Given the description of an element on the screen output the (x, y) to click on. 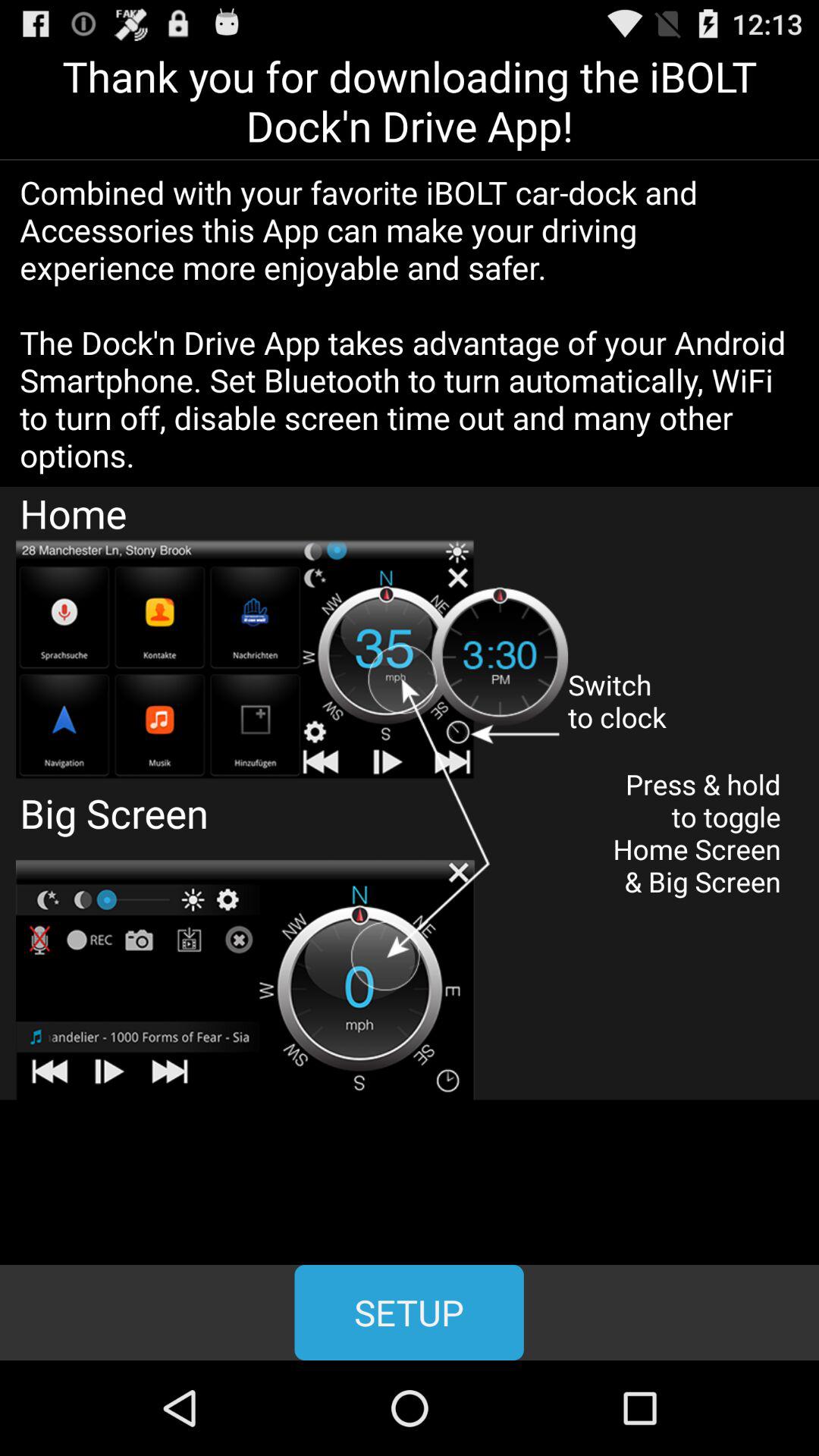
jump to setup button (408, 1312)
